Given the description of an element on the screen output the (x, y) to click on. 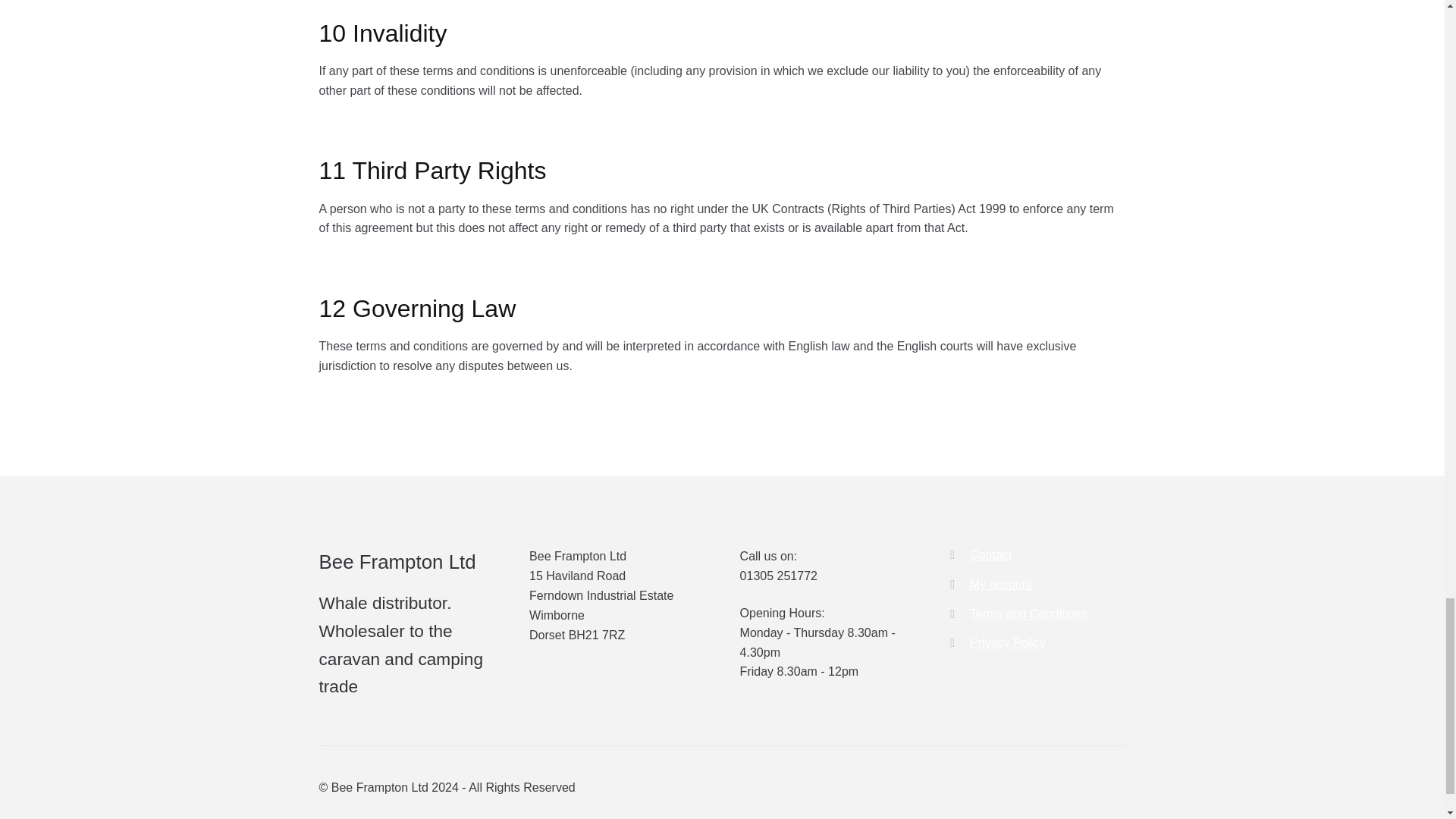
Privacy Policy (1007, 642)
Contact (990, 554)
Terms and Conditions (1028, 613)
My account (1000, 584)
